Given the description of an element on the screen output the (x, y) to click on. 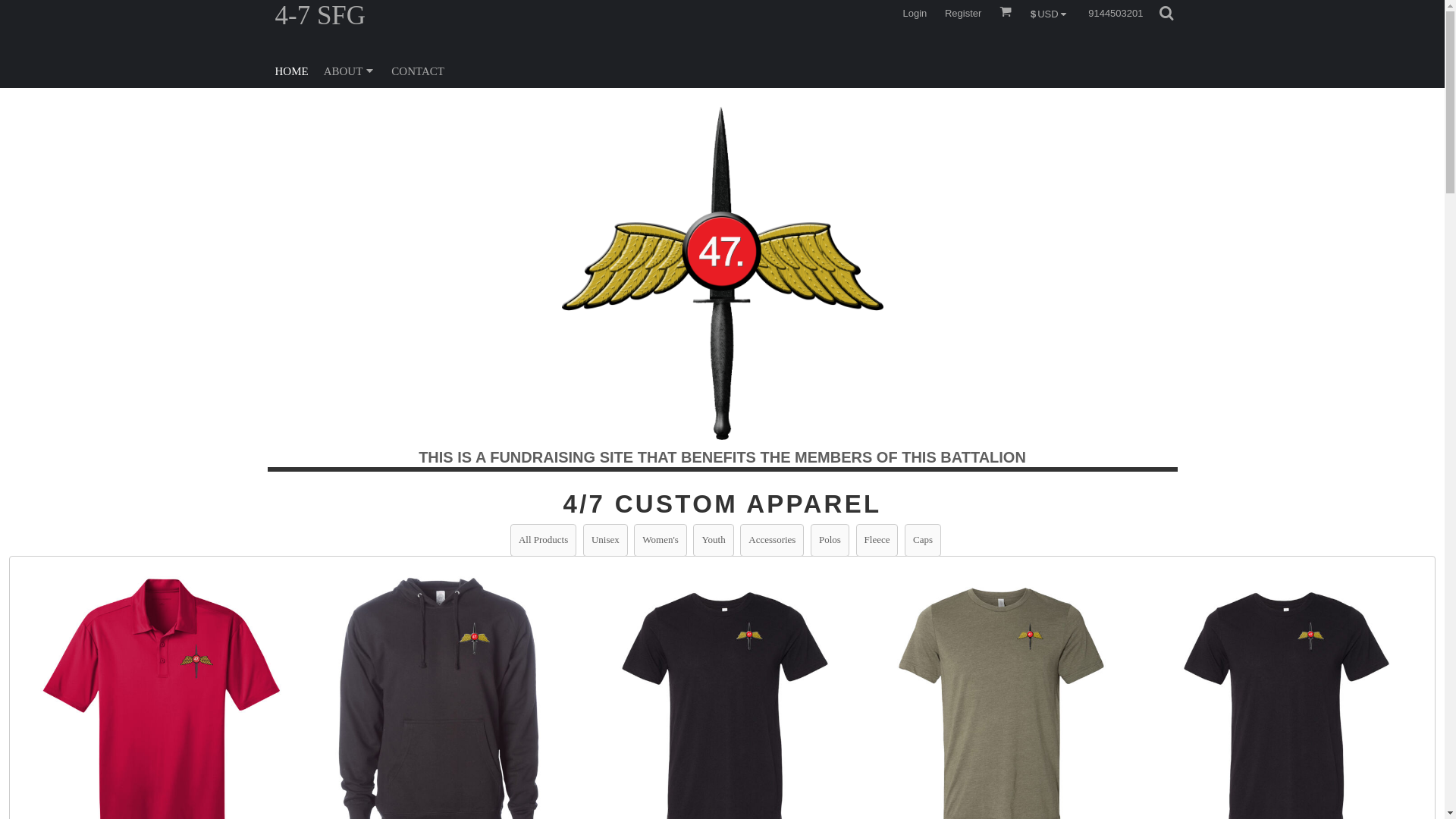
as Element type: text (11, 7)
Login Element type: text (915, 12)
HOME Element type: text (290, 70)
Register Element type: text (962, 12)
ABOUT Element type: text (349, 70)
CONTACT Element type: text (417, 70)
4-7 SFG Element type: text (493, 13)
